Given the description of an element on the screen output the (x, y) to click on. 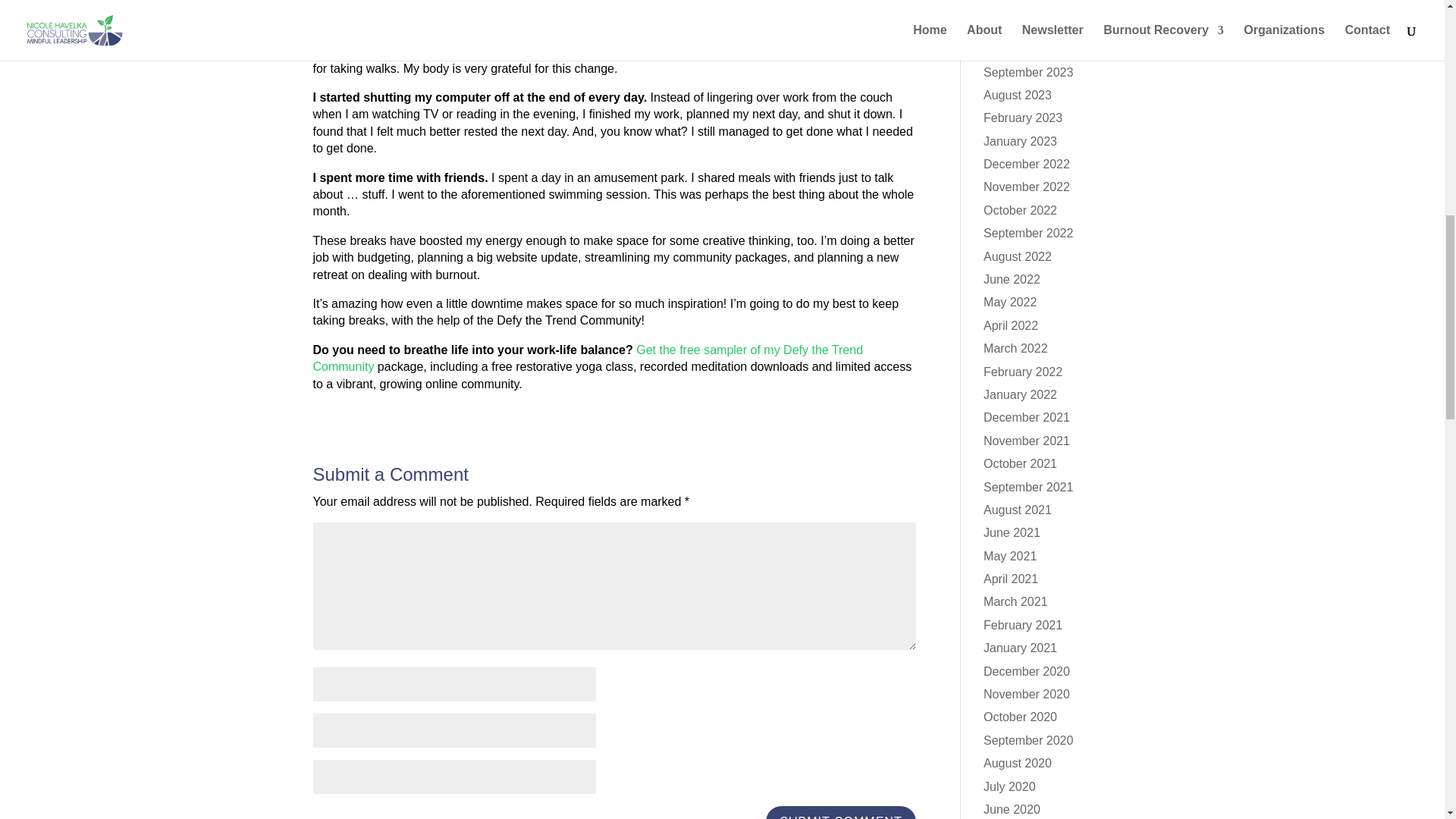
Submit Comment (840, 812)
Get the free sampler of my Defy the Trend Community (588, 358)
Submit Comment (840, 812)
